Given the description of an element on the screen output the (x, y) to click on. 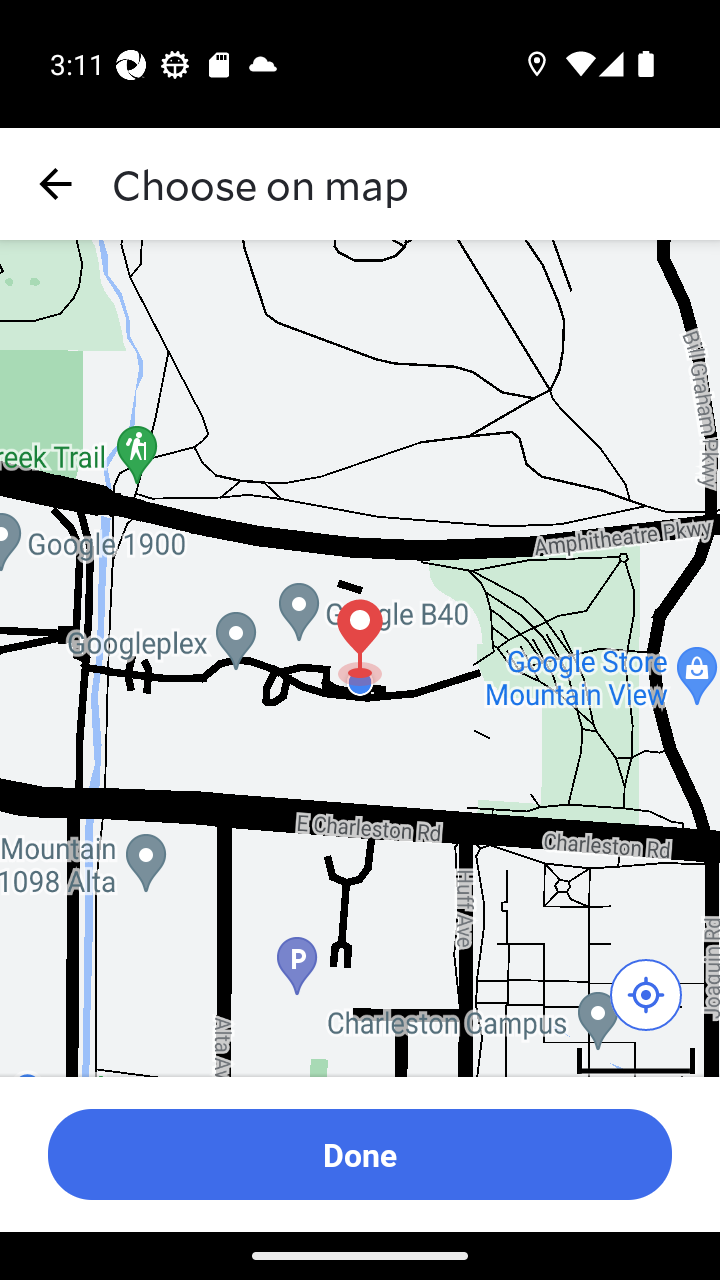
navigation_button (56, 184)
Done (359, 1154)
